Given the description of an element on the screen output the (x, y) to click on. 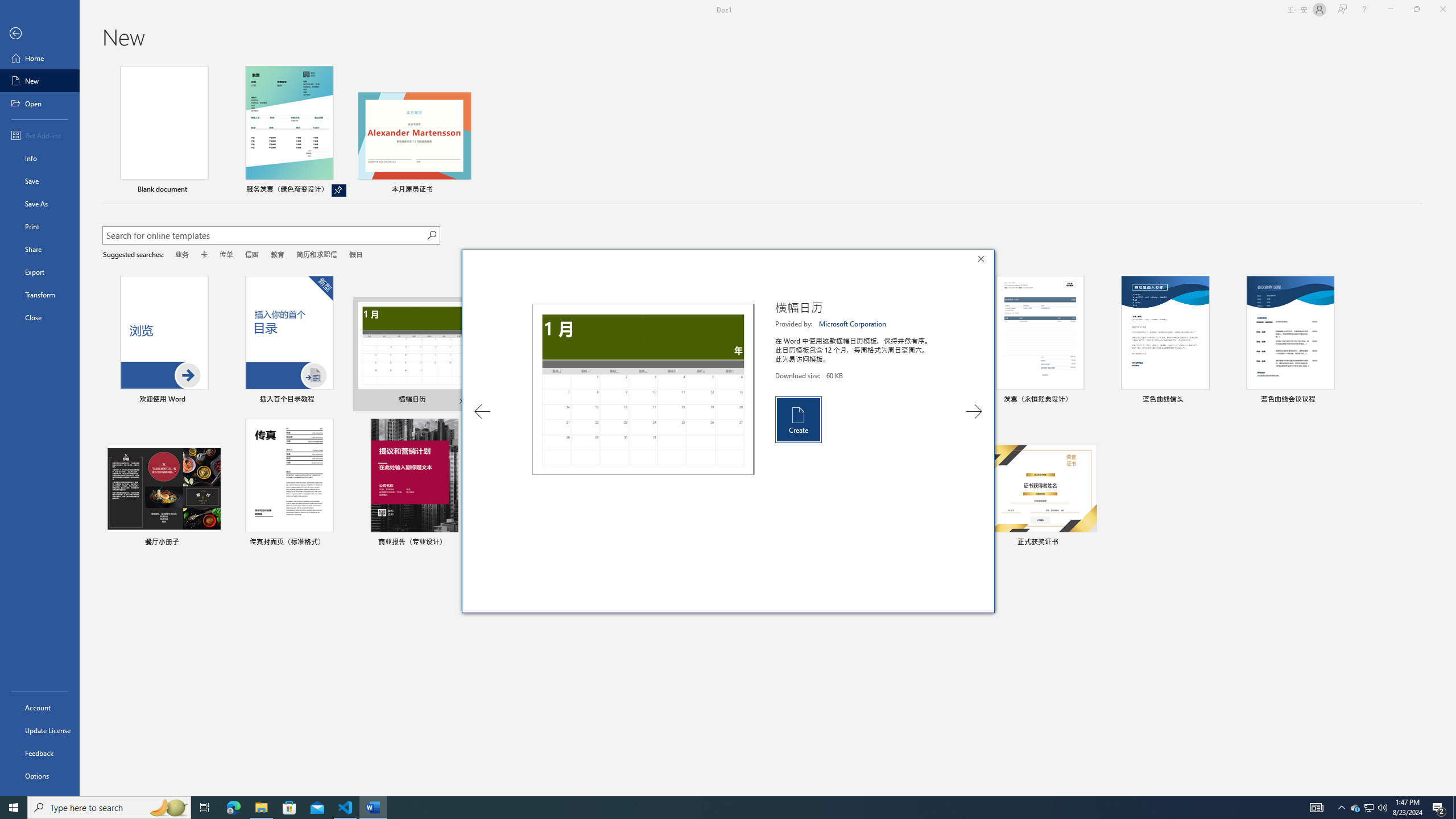
AutomationID: 4105 (1316, 807)
File Explorer - 1 running window (261, 807)
Start (13, 807)
Microsoft Corporation (853, 323)
Print (40, 225)
Update License (40, 730)
Unpin from list (338, 190)
Microsoft Edge (233, 807)
Pin to list (1089, 543)
Word - 1 running window (373, 807)
